Given the description of an element on the screen output the (x, y) to click on. 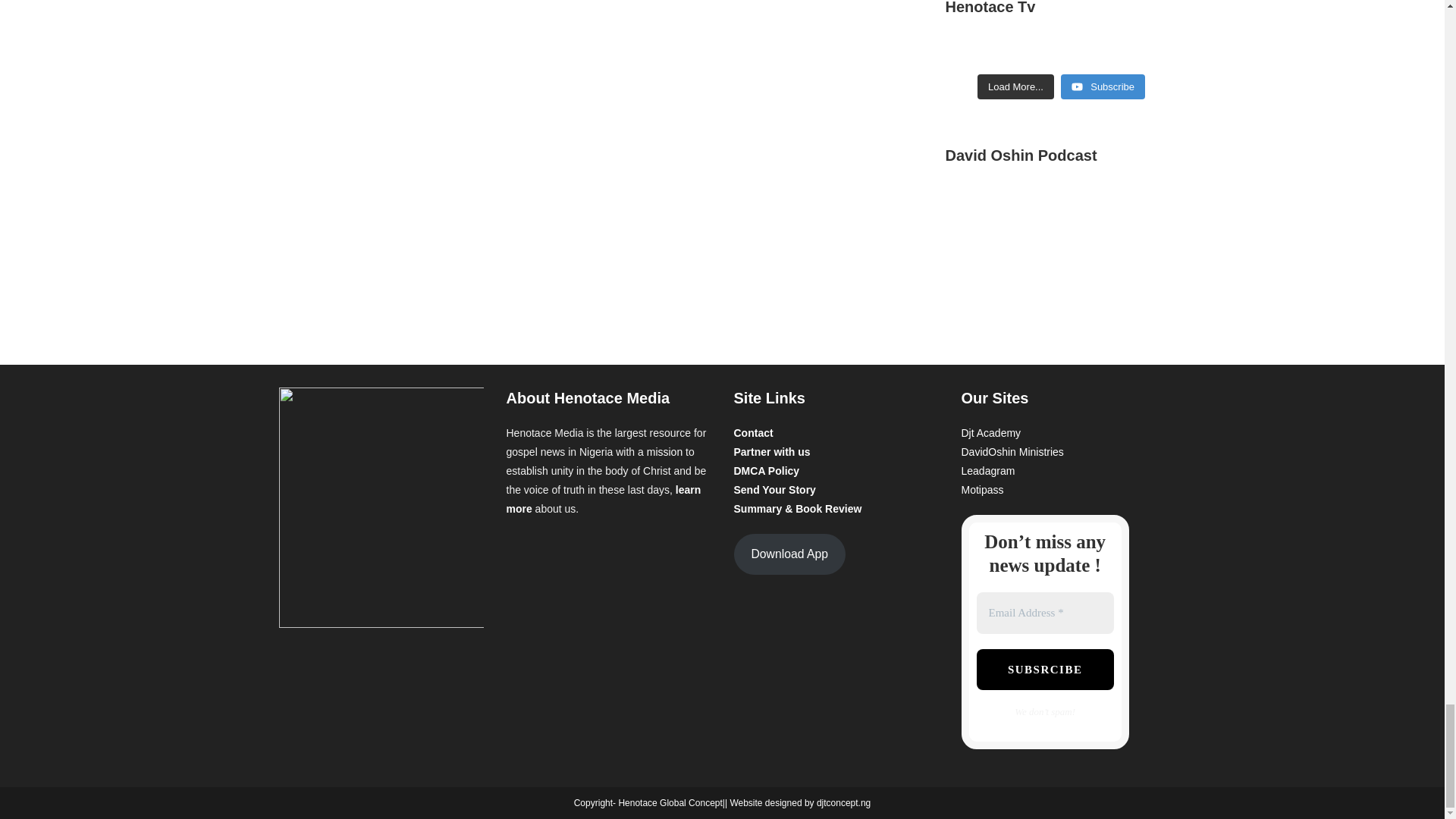
Email Address (1044, 612)
Subsrcibe (1044, 670)
Spotify Embed: David Oshin (1060, 245)
